Given the description of an element on the screen output the (x, y) to click on. 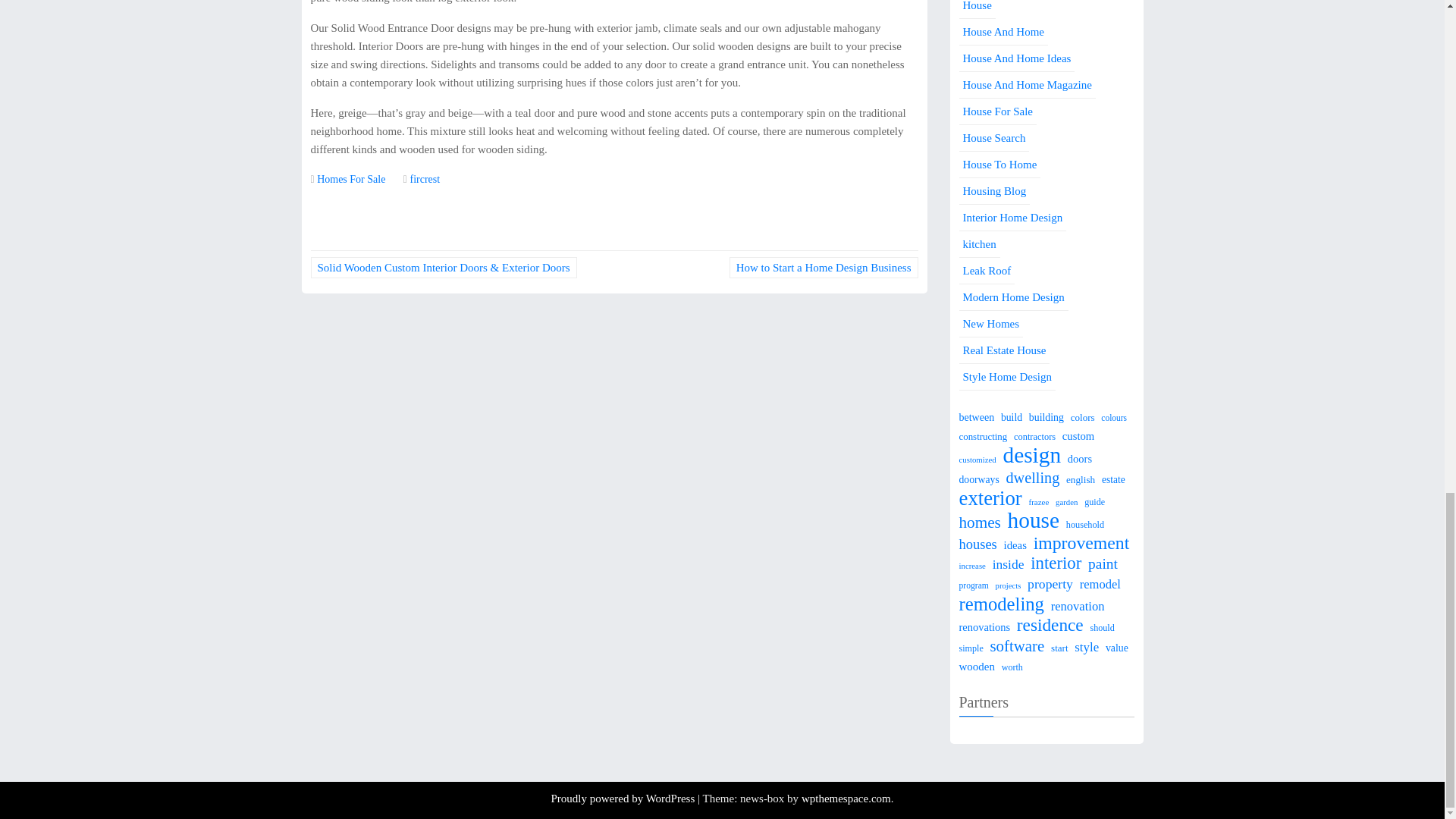
Homes For Sale (351, 179)
fircrest (424, 179)
How to Start a Home Design Business (823, 267)
